Given the description of an element on the screen output the (x, y) to click on. 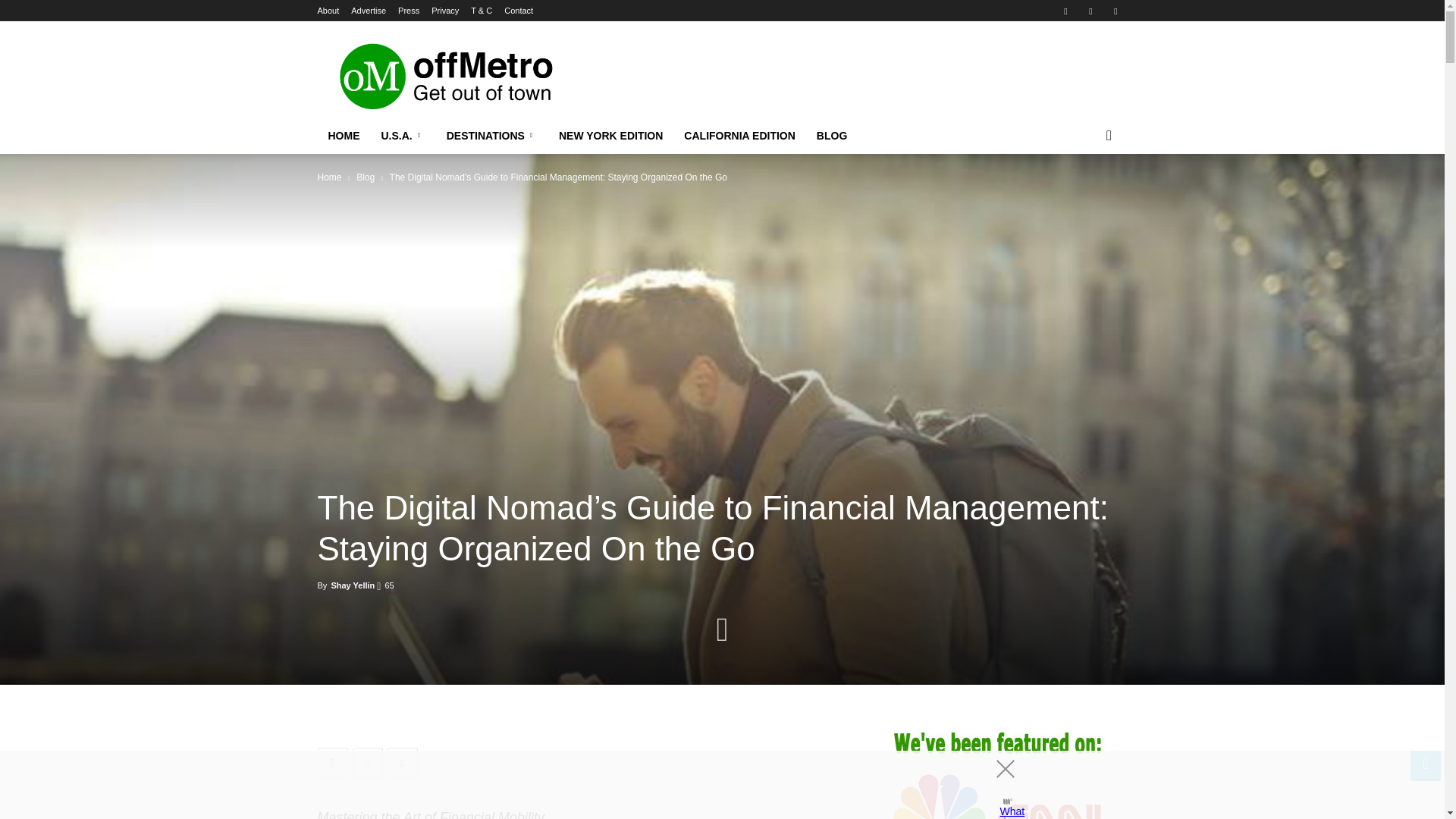
Facebook (1065, 10)
Contact (517, 10)
Privacy (444, 10)
Twitter (1114, 10)
Advertise (367, 10)
Pinterest (1090, 10)
View all posts in Blog (365, 176)
Press (408, 10)
About (328, 10)
